Given the description of an element on the screen output the (x, y) to click on. 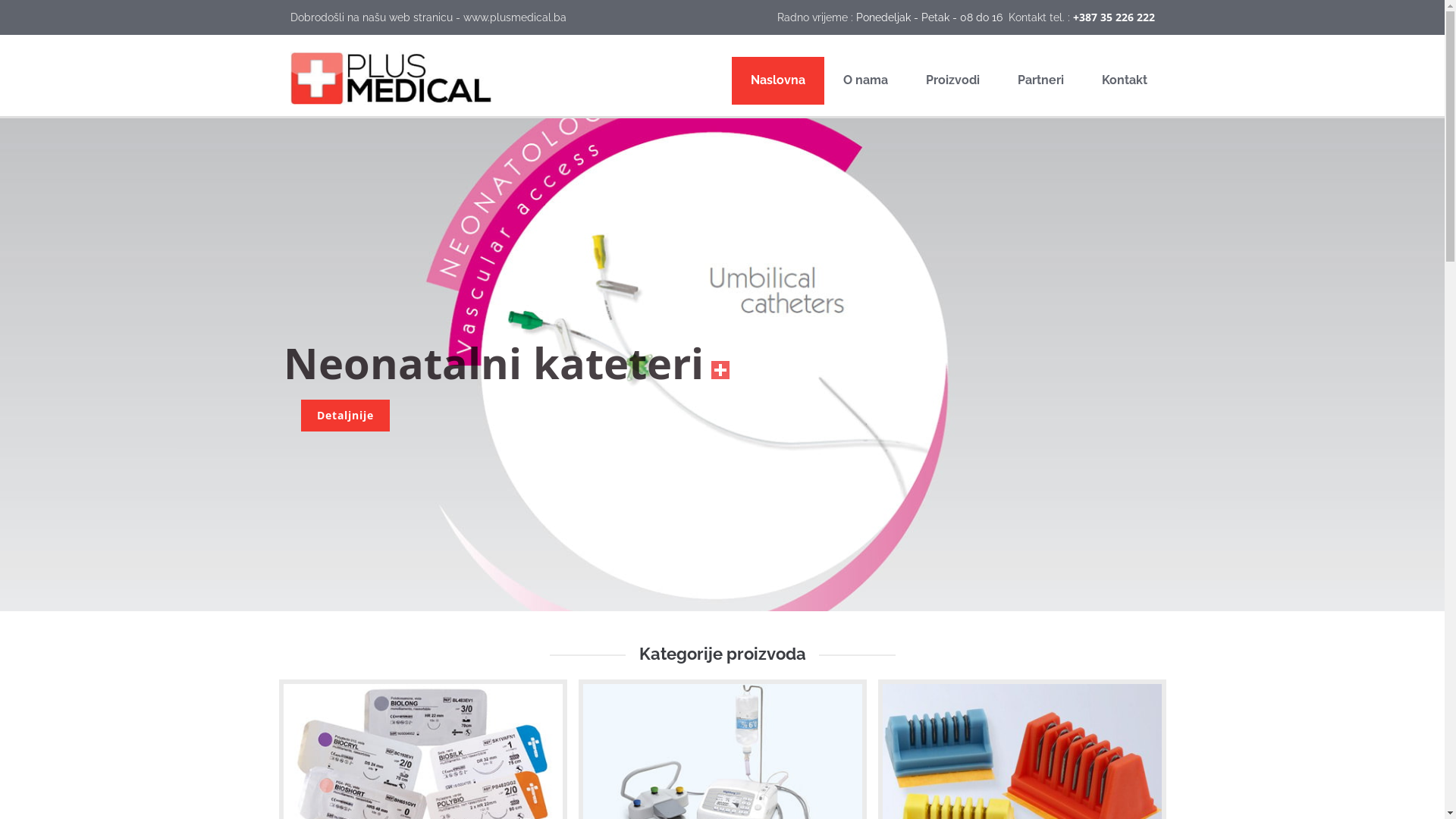
Naslovna Element type: text (777, 80)
Detaljnije Element type: text (345, 415)
Proizvodi Element type: text (952, 80)
Kontakt Element type: text (1124, 80)
O nama Element type: text (864, 80)
Partneri Element type: text (1039, 80)
+387 35 226 222 Element type: text (1113, 16)
